Given the description of an element on the screen output the (x, y) to click on. 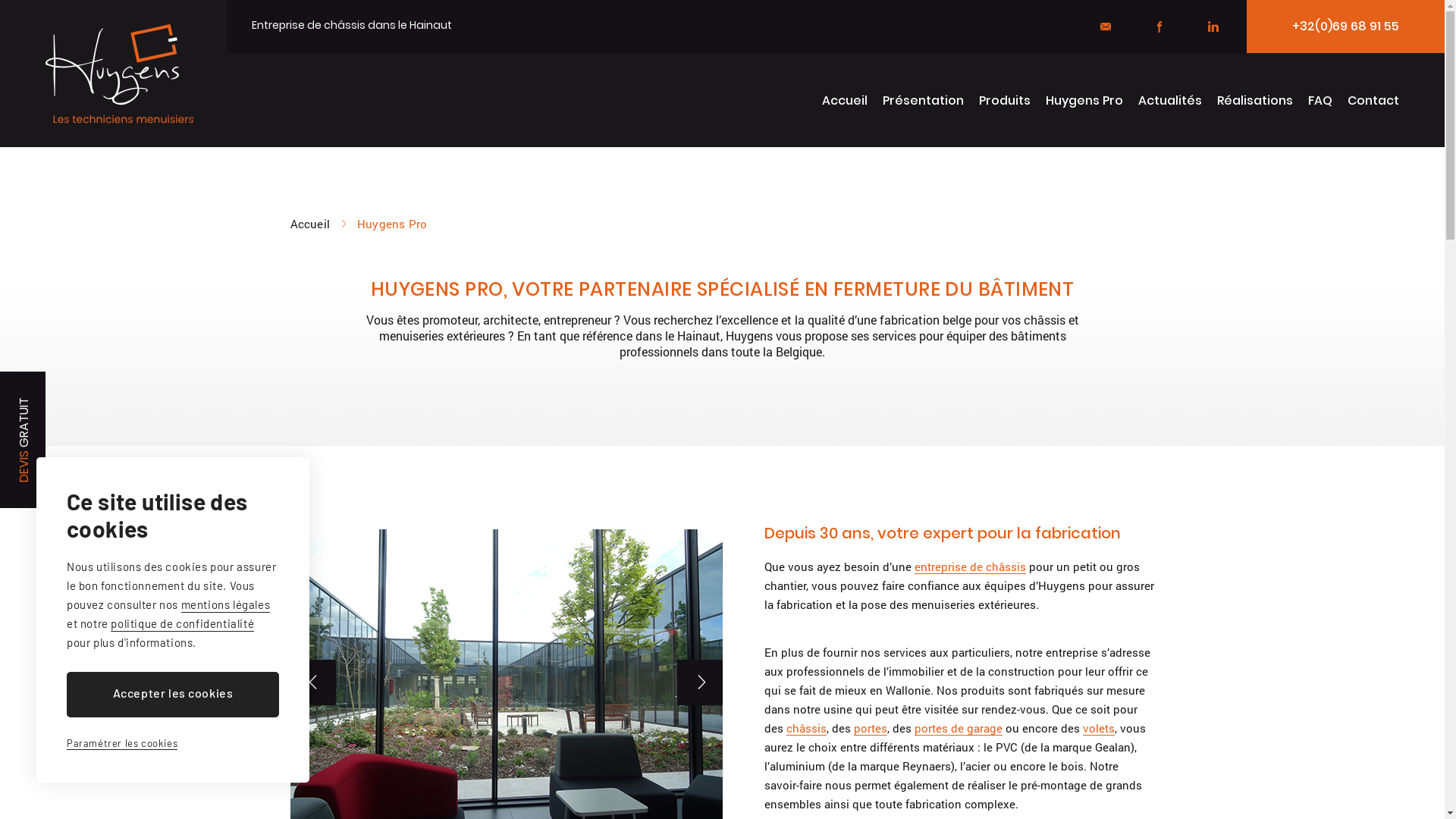
DEVIS GRATUIT Element type: text (68, 394)
portes de garage Element type: text (958, 727)
info@huygens.info Element type: hover (1105, 26)
Contact Element type: text (1373, 102)
Huygens Pro Element type: text (1084, 102)
Huygens Pro Element type: text (391, 223)
Next Element type: text (698, 682)
+32(0)69 68 91 55 Element type: text (1345, 26)
FAQ Element type: text (1320, 102)
portes Element type: text (870, 727)
Accueil Element type: text (844, 102)
Produits Element type: text (1004, 102)
Accueil Element type: text (317, 223)
Rejoignez-nous sur facebook Element type: hover (1159, 26)
volets Element type: text (1098, 727)
Previous Element type: text (312, 682)
